Given the description of an element on the screen output the (x, y) to click on. 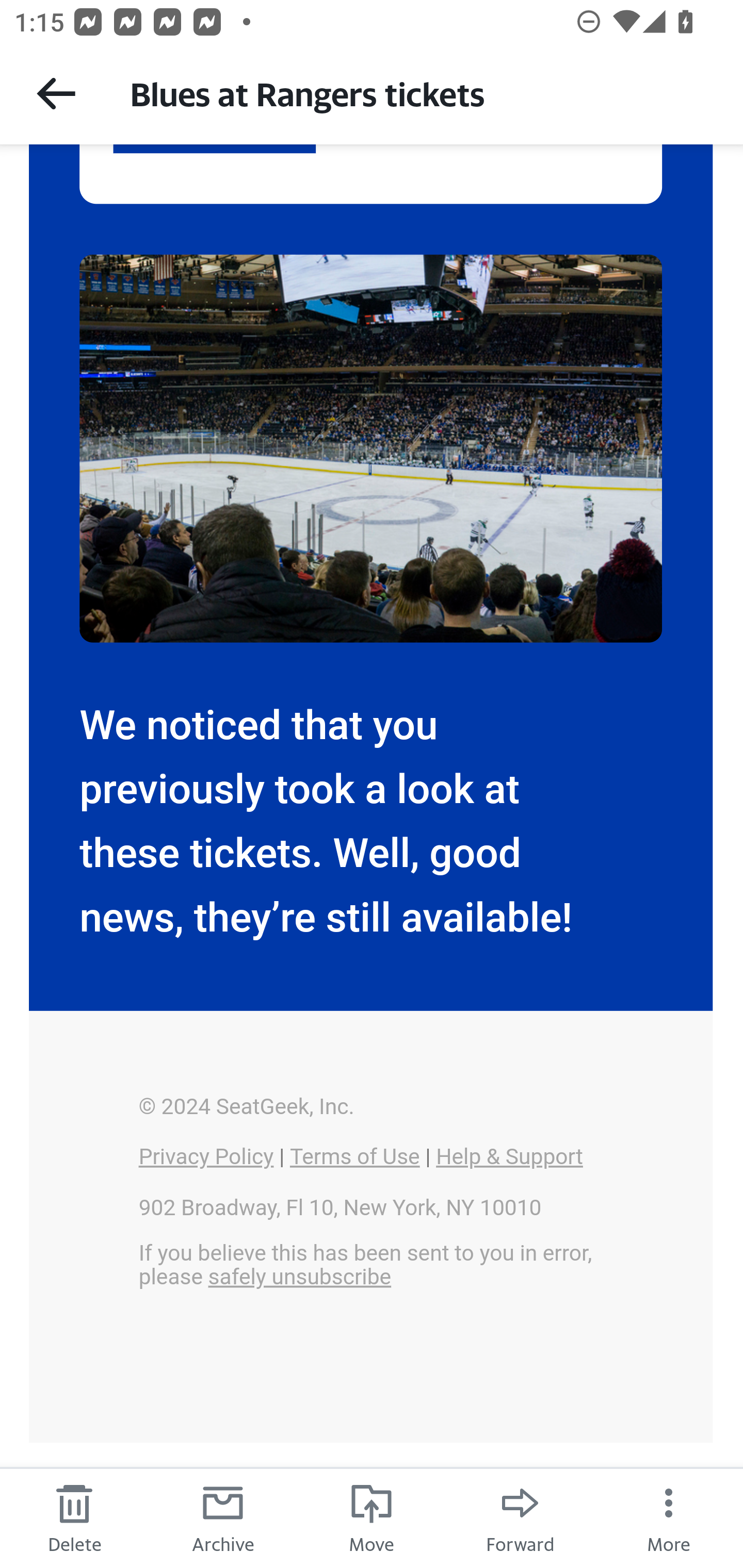
Back (55, 92)
Privacy Policy (205, 1157)
Terms of Use (353, 1157)
Help & Support (509, 1157)
safely unsubscribe (299, 1276)
Delete (74, 1517)
Archive (222, 1517)
Move (371, 1517)
Forward (519, 1517)
More (668, 1517)
